Given the description of an element on the screen output the (x, y) to click on. 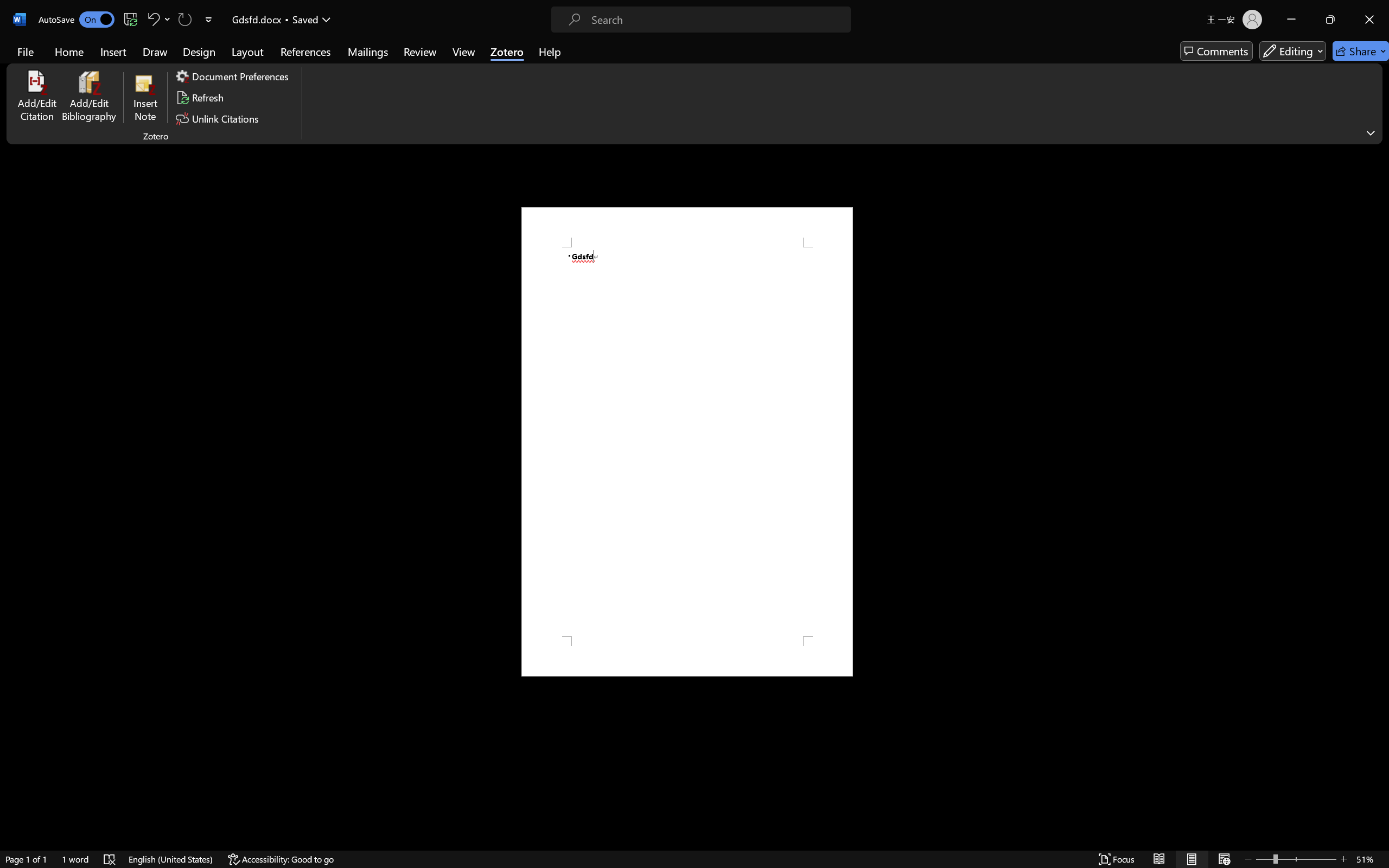
Page 1 content (686, 441)
